Given the description of an element on the screen output the (x, y) to click on. 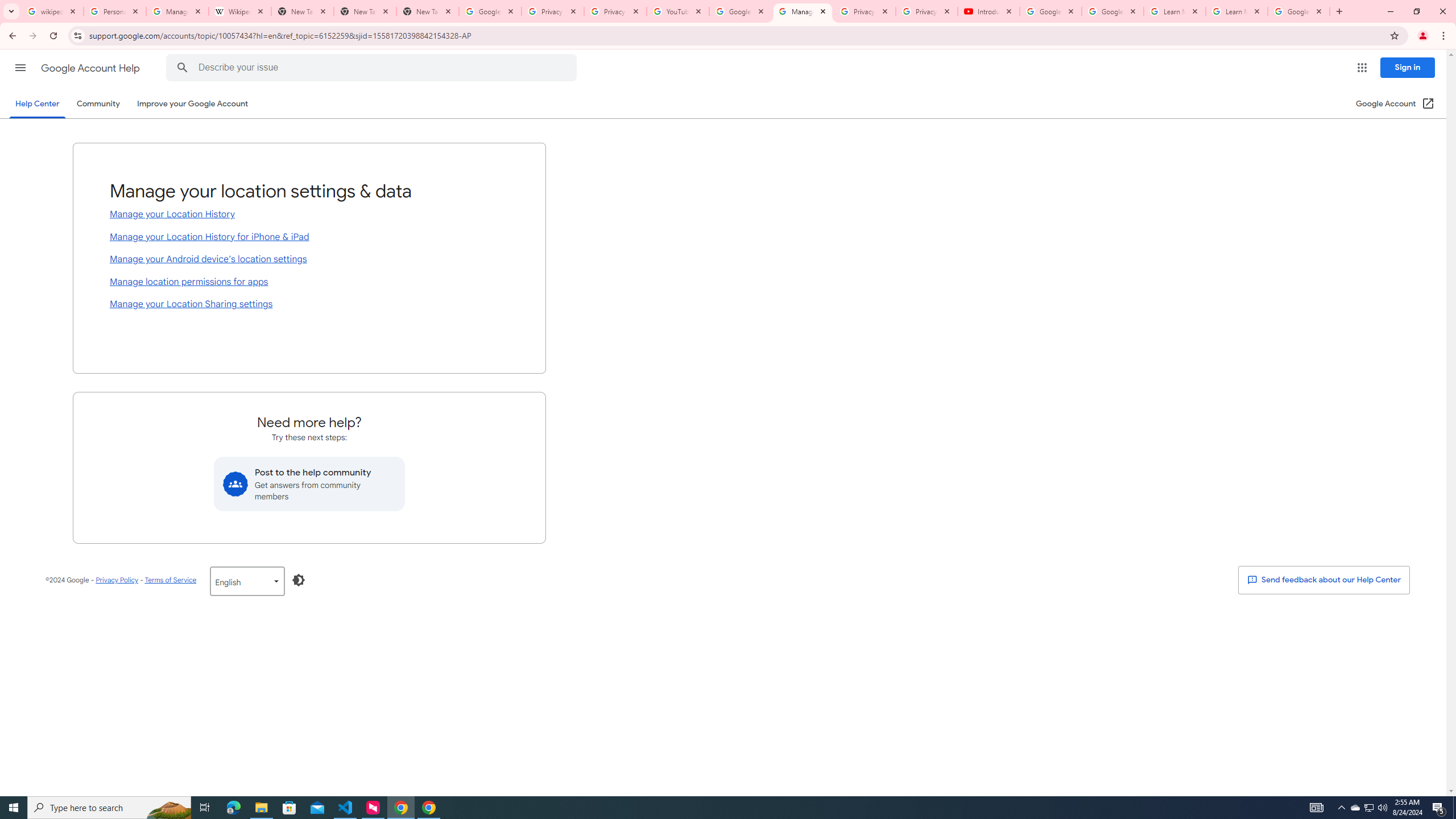
Google Drive: Sign-in (490, 11)
Manage your location settings & data - Google Account Help (802, 11)
Google Account (Open in a new window) (1395, 103)
Enable Dark Mode (299, 579)
